Given the description of an element on the screen output the (x, y) to click on. 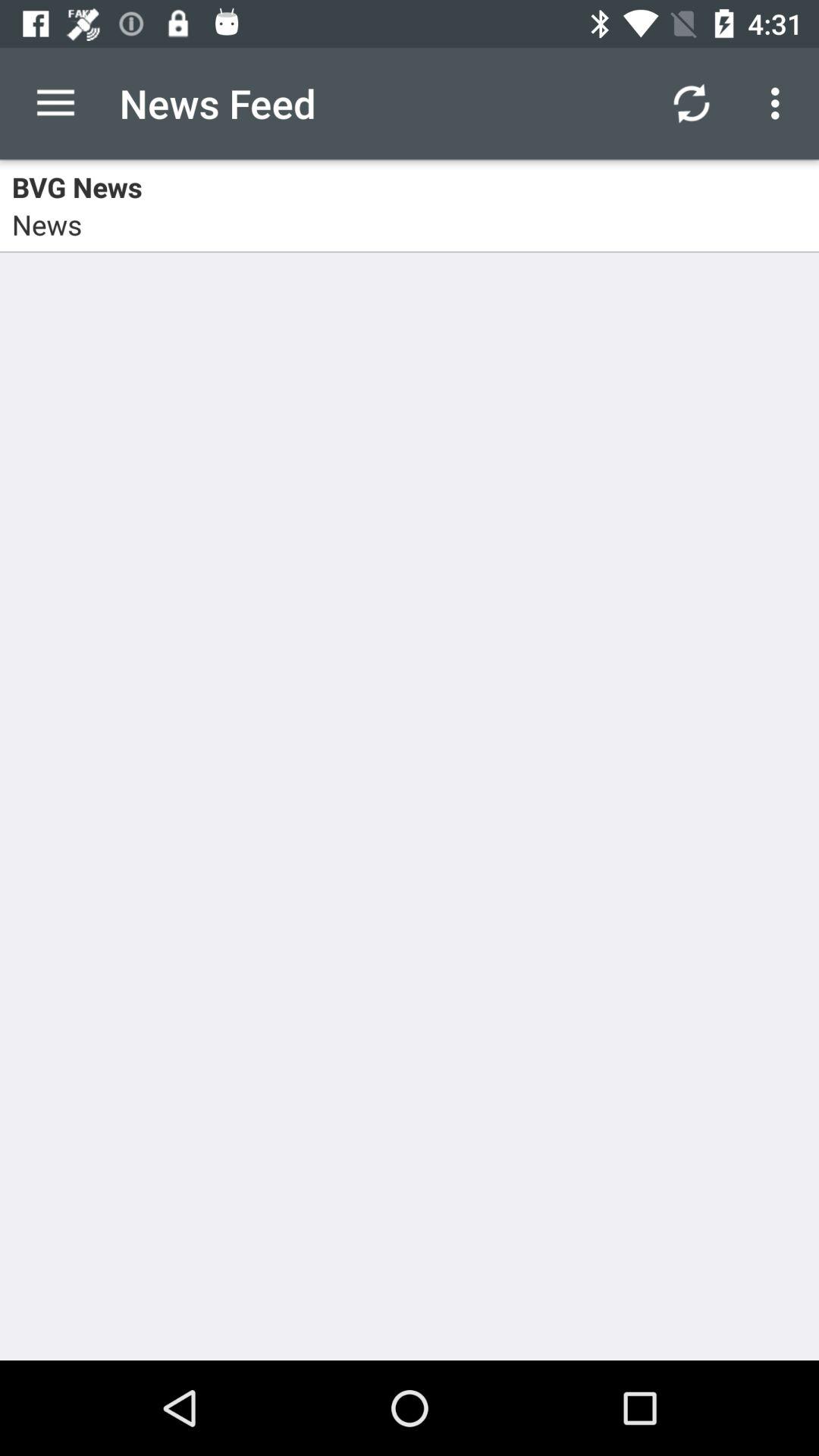
click icon next to the news feed icon (55, 103)
